Given the description of an element on the screen output the (x, y) to click on. 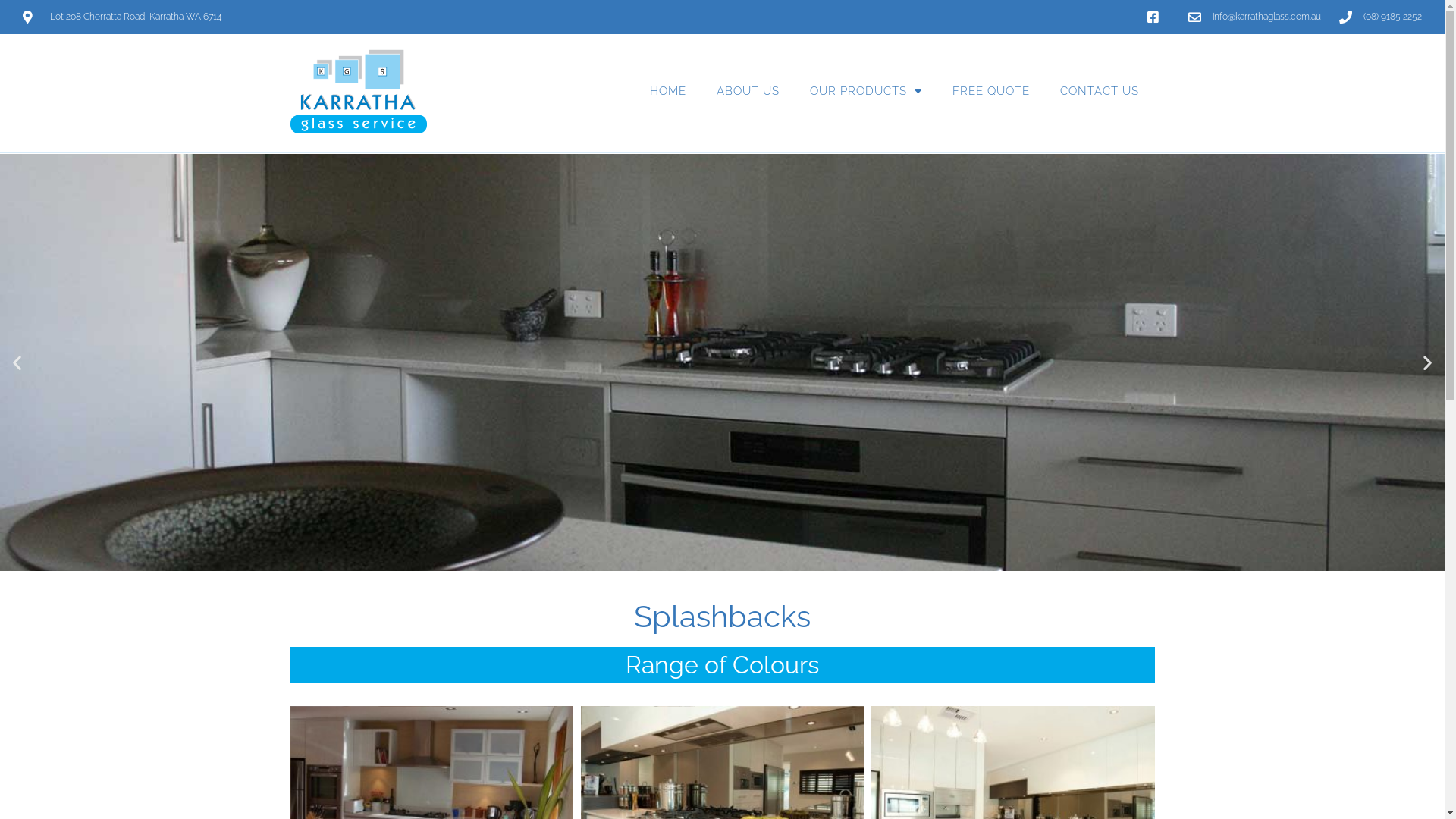
CONTACT US Element type: text (1099, 91)
FREE QUOTE Element type: text (990, 91)
OUR PRODUCTS Element type: text (865, 91)
HOME Element type: text (667, 91)
ABOUT US Element type: text (747, 91)
